Given the description of an element on the screen output the (x, y) to click on. 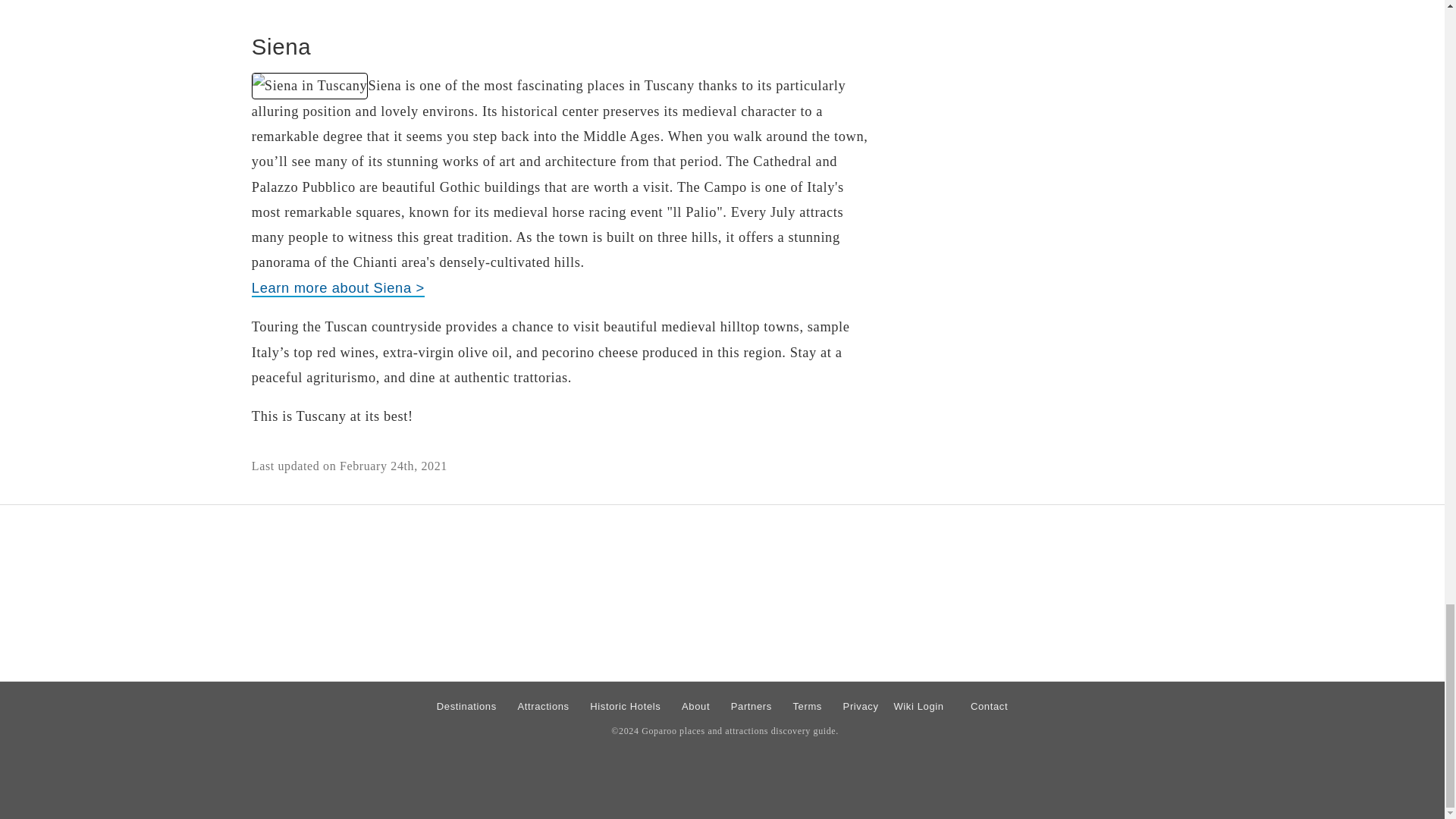
Privacy (861, 705)
Historic Hotels (624, 705)
Terms (807, 705)
Partners (751, 705)
About (695, 705)
Contact (988, 705)
Wiki Login (917, 705)
Destinations (466, 705)
Attractions (543, 705)
